Given the description of an element on the screen output the (x, y) to click on. 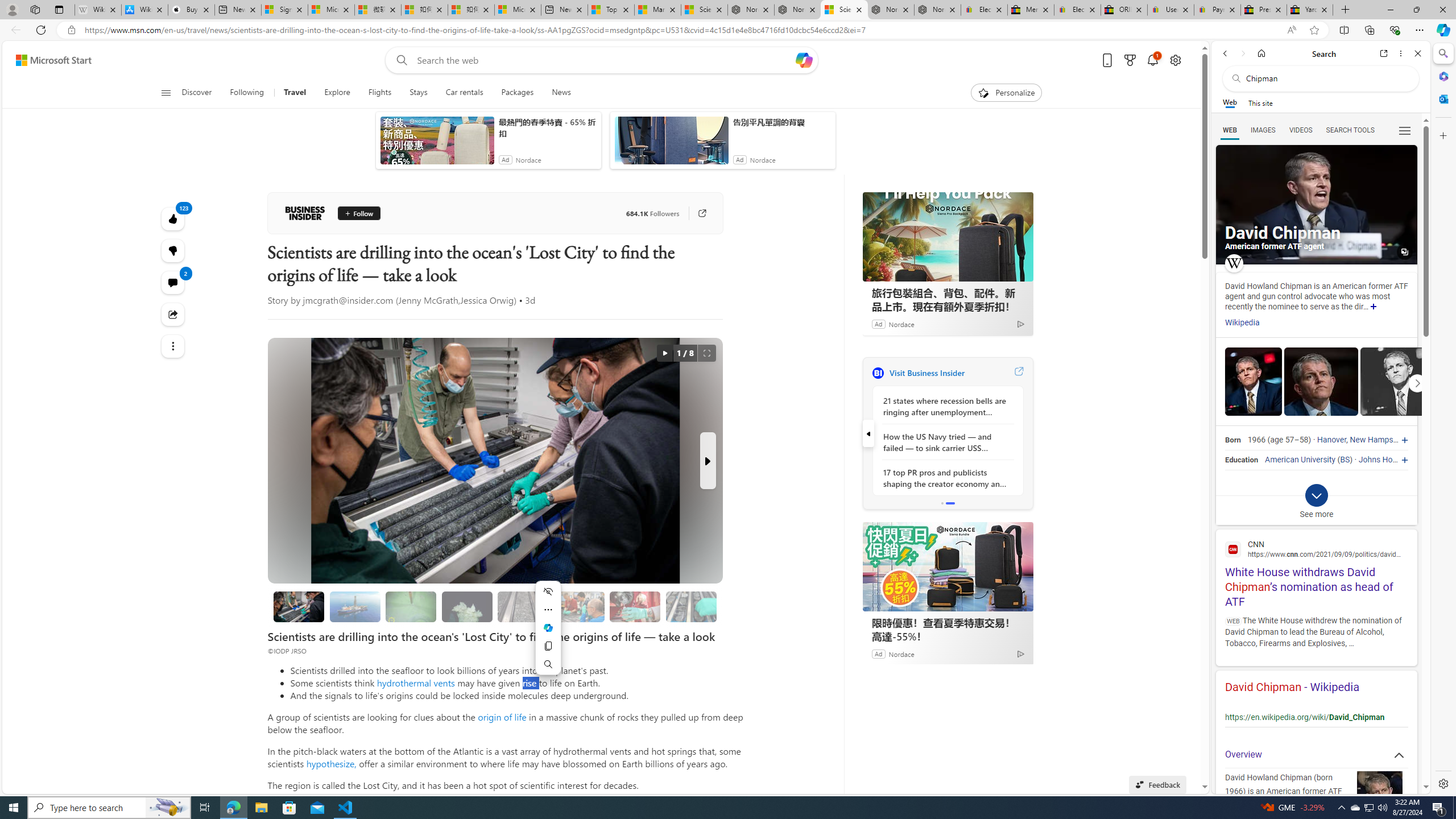
Marine life - MSN (656, 9)
Born (1232, 439)
Business Insider (877, 372)
Press Room - eBay Inc. (1263, 9)
hydrothermal vents (415, 682)
Open settings (1175, 60)
anim-content (671, 144)
Open navigation menu (164, 92)
Business Insider (305, 213)
WEB   (1230, 130)
